Given the description of an element on the screen output the (x, y) to click on. 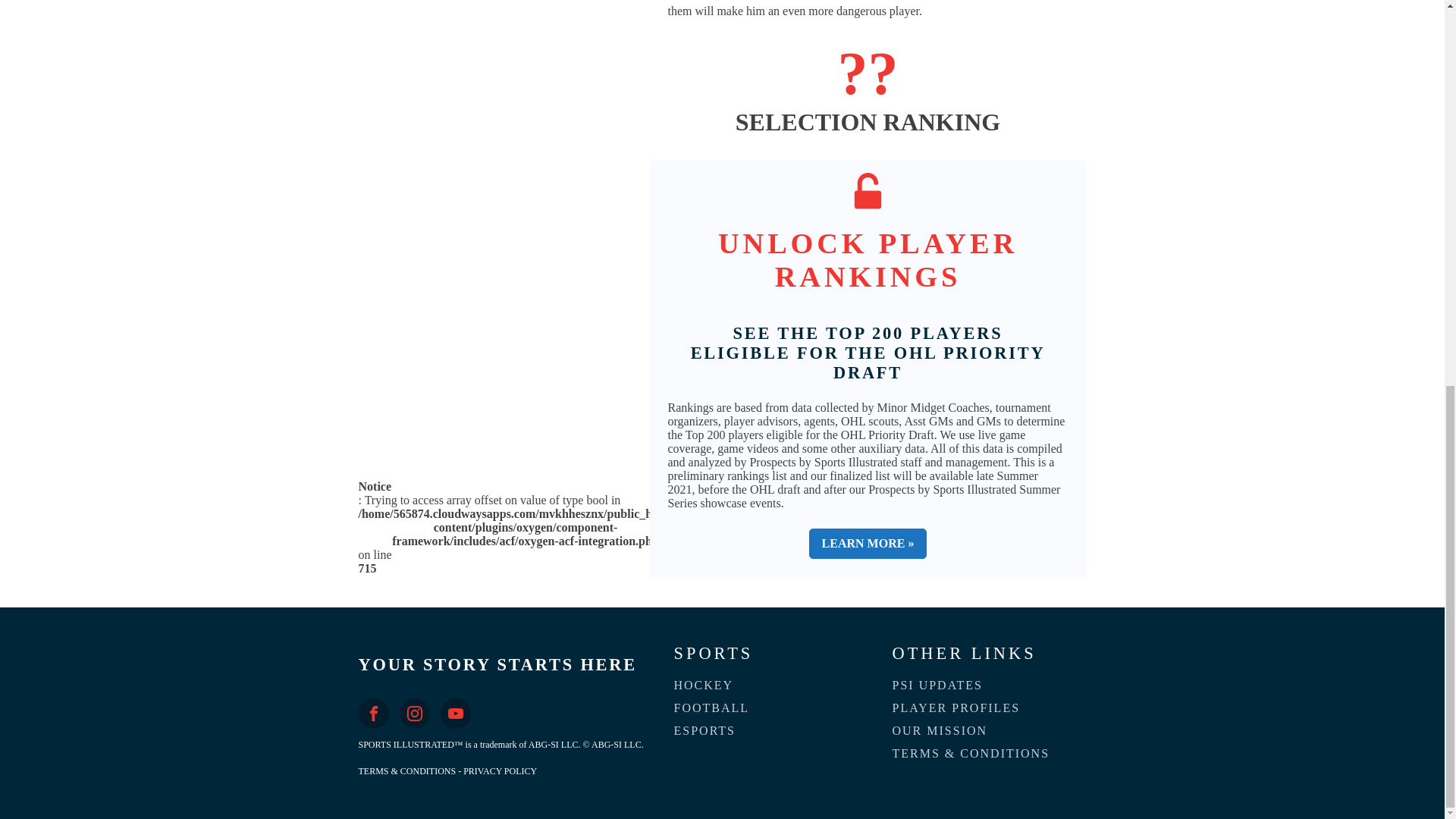
OUR MISSION (940, 731)
PLAYER PROFILES (957, 708)
HOCKEY (704, 685)
FOOTBALL (712, 708)
ESPORTS (705, 731)
PSI UPDATES (938, 685)
